Given the description of an element on the screen output the (x, y) to click on. 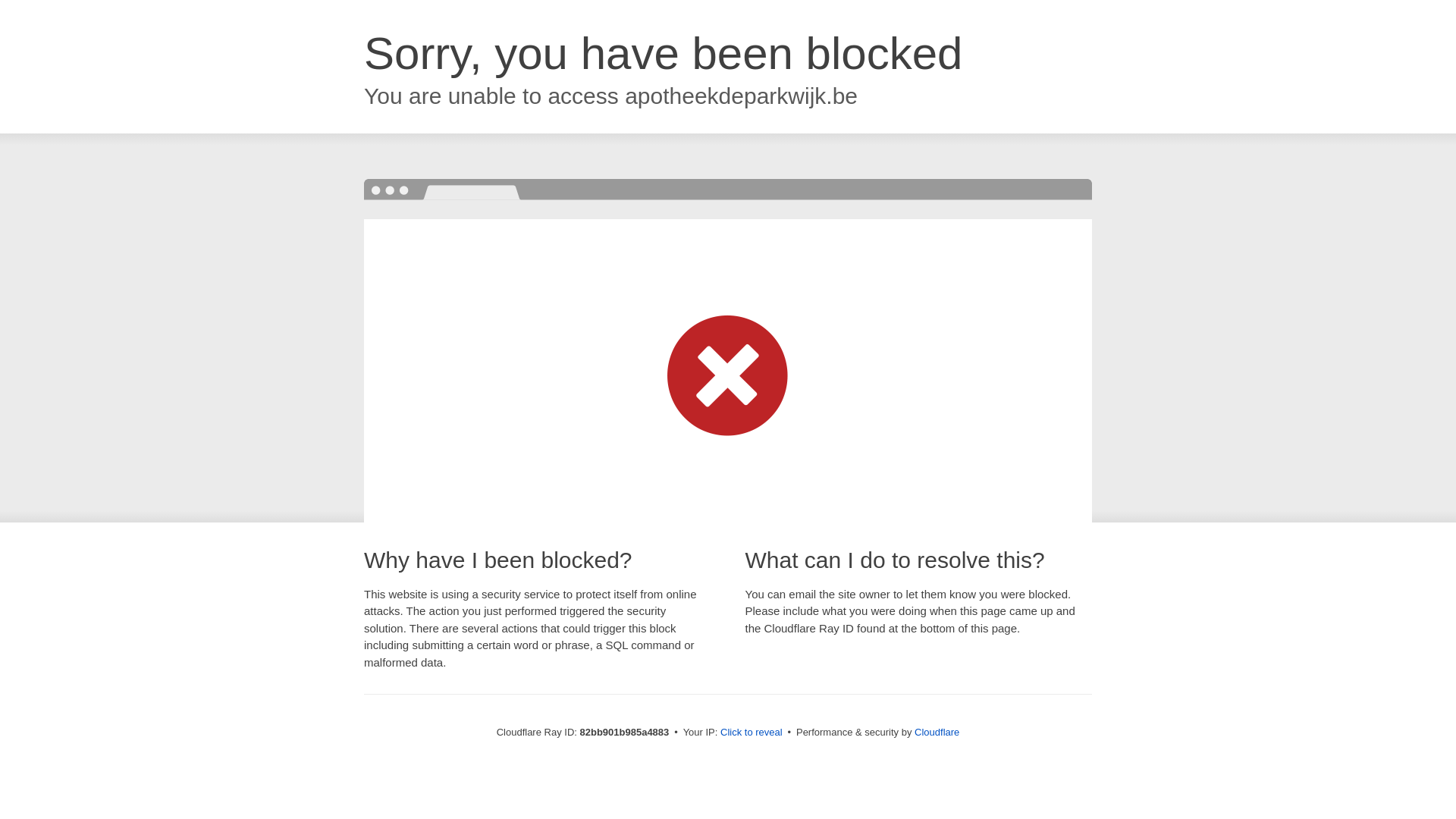
Click to reveal Element type: text (751, 732)
Cloudflare Element type: text (936, 731)
